Given the description of an element on the screen output the (x, y) to click on. 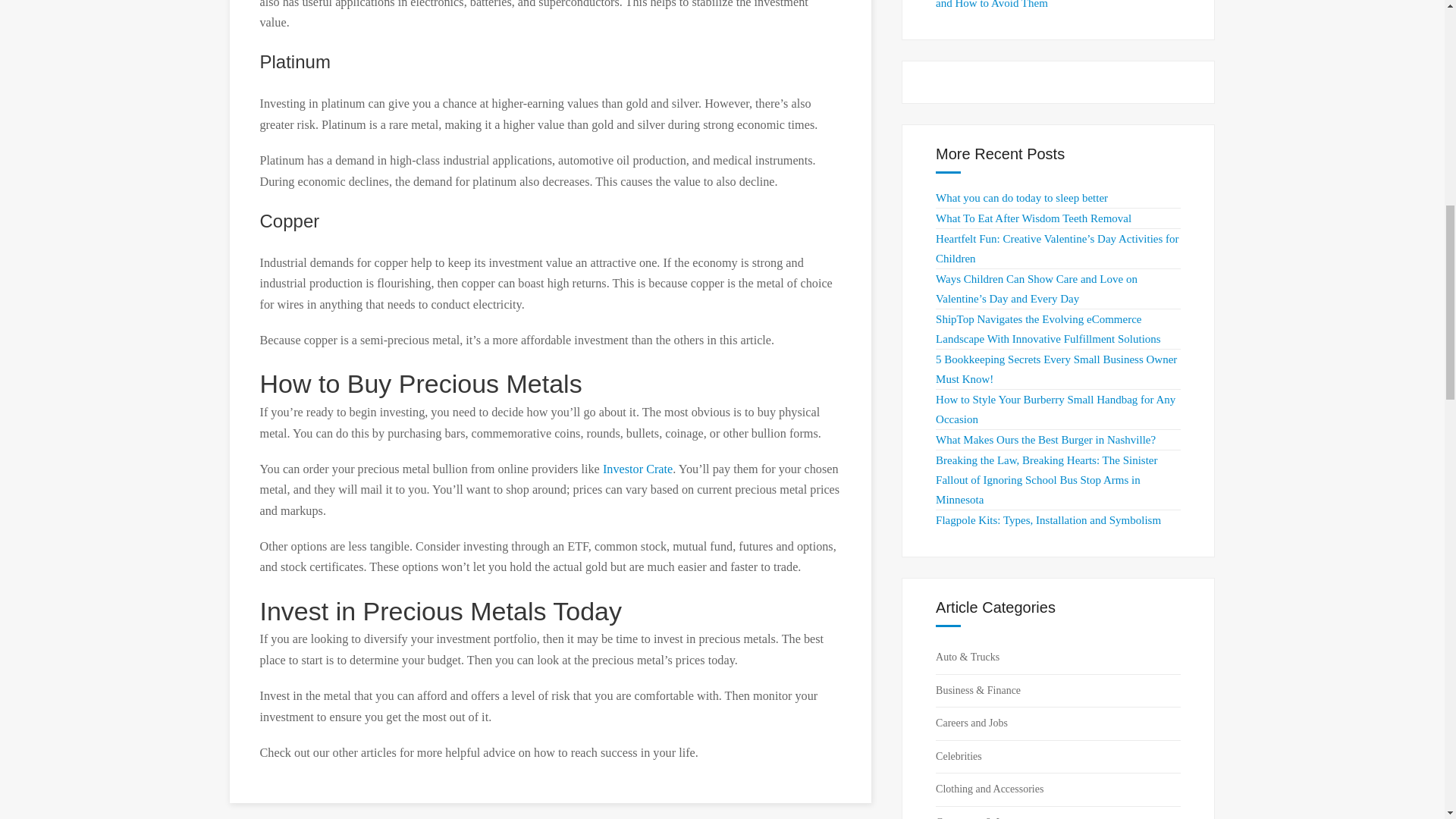
What Makes Ours the Best Burger in Nashville? (1046, 439)
How to Style Your Burberry Small Handbag for Any Occasion (1055, 409)
What you can do today to sleep better (1022, 197)
5 Bookkeeping Secrets Every Small Business Owner Must Know! (1056, 368)
What To Eat After Wisdom Teeth Removal (1033, 218)
Investor Crate (637, 468)
